Given the description of an element on the screen output the (x, y) to click on. 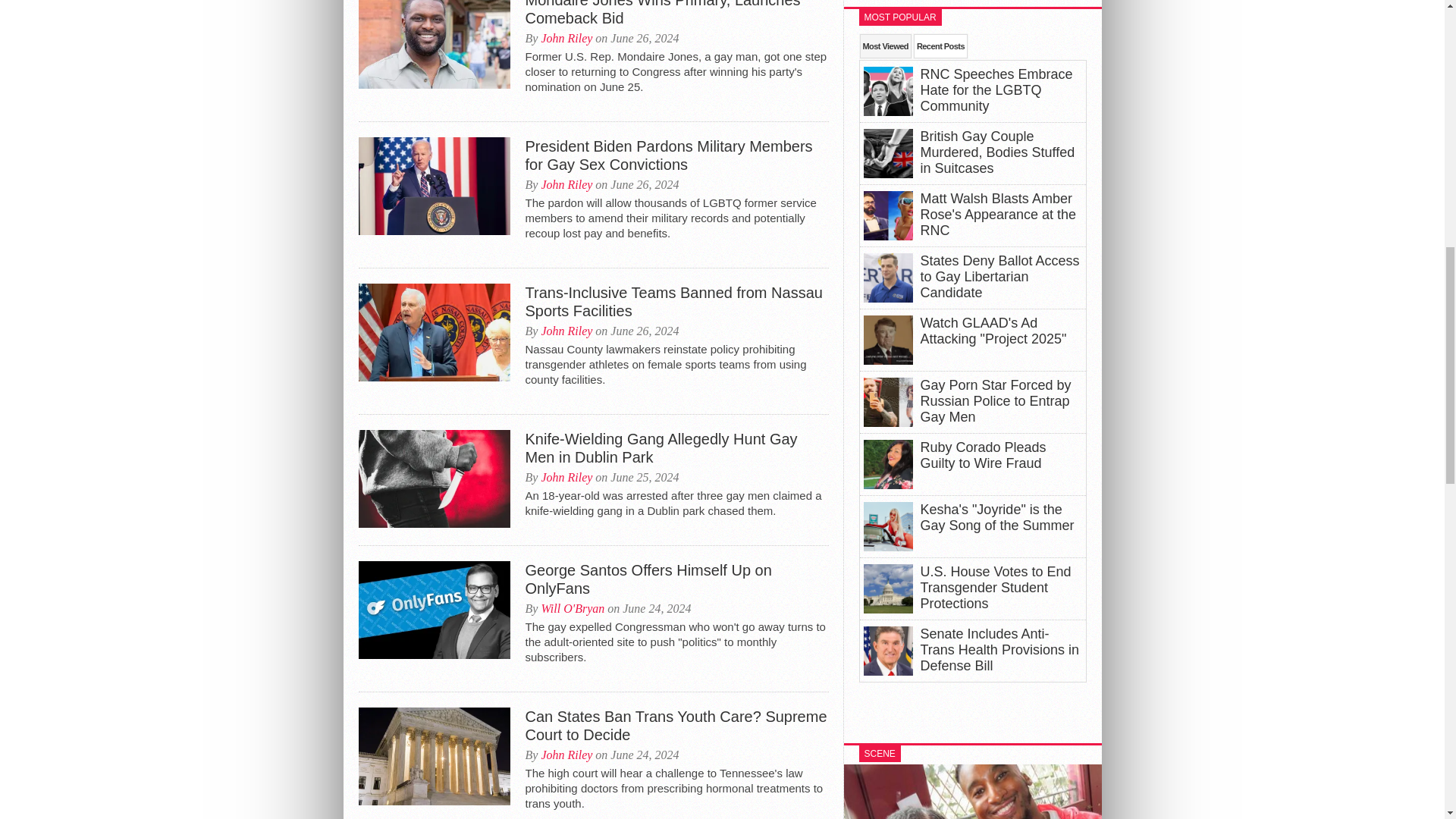
Posts by John Riley (566, 330)
Posts by Will O'Bryan (572, 608)
Posts by John Riley (566, 184)
Posts by John Riley (566, 477)
Posts by John Riley (566, 38)
